Given the description of an element on the screen output the (x, y) to click on. 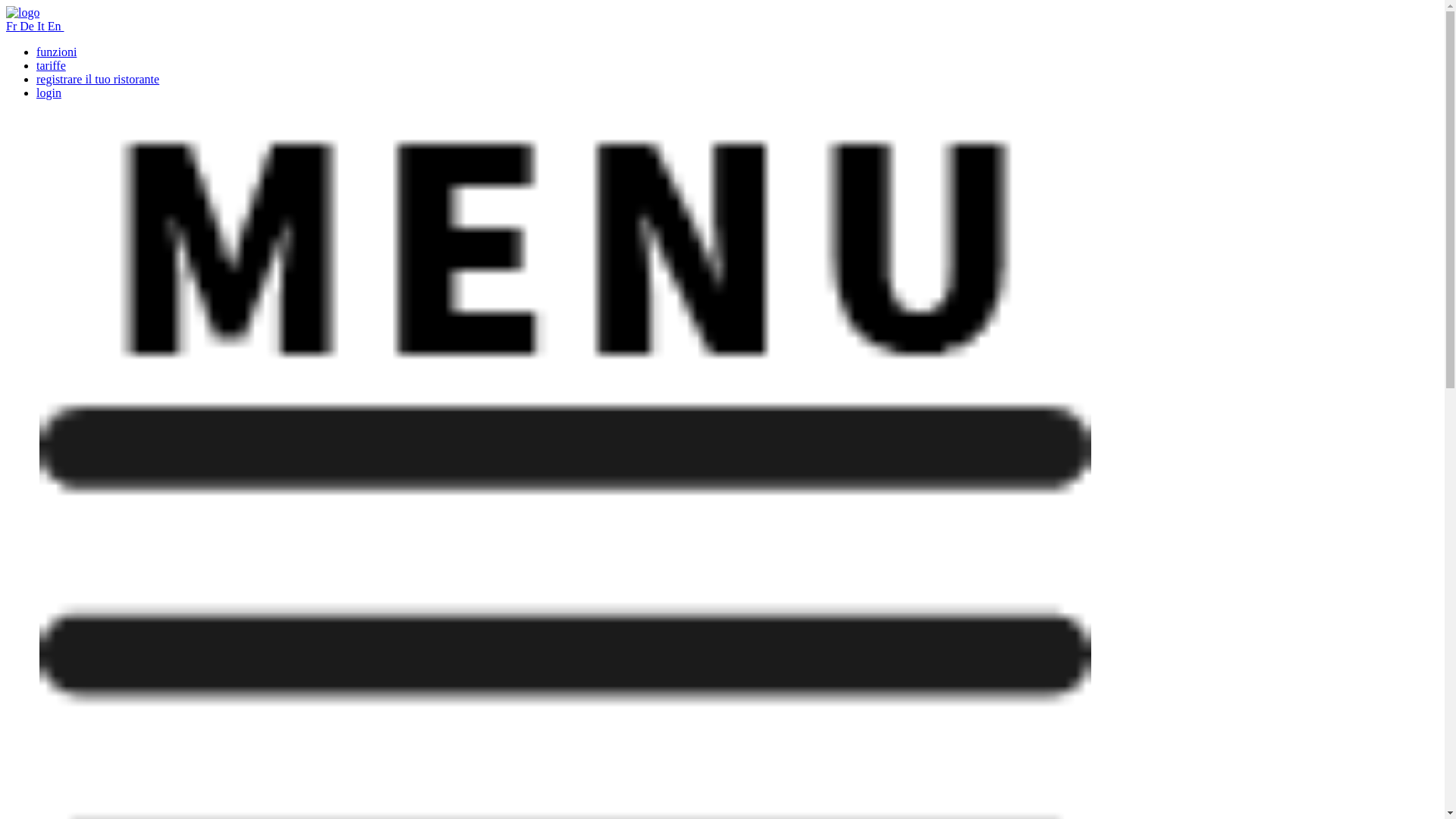
funzioni Element type: text (56, 51)
En Element type: text (55, 25)
tariffe Element type: text (50, 65)
registrare il tuo ristorante Element type: text (97, 78)
login Element type: text (48, 92)
De Element type: text (28, 25)
It Element type: text (42, 25)
Fr Element type: text (12, 25)
